Given the description of an element on the screen output the (x, y) to click on. 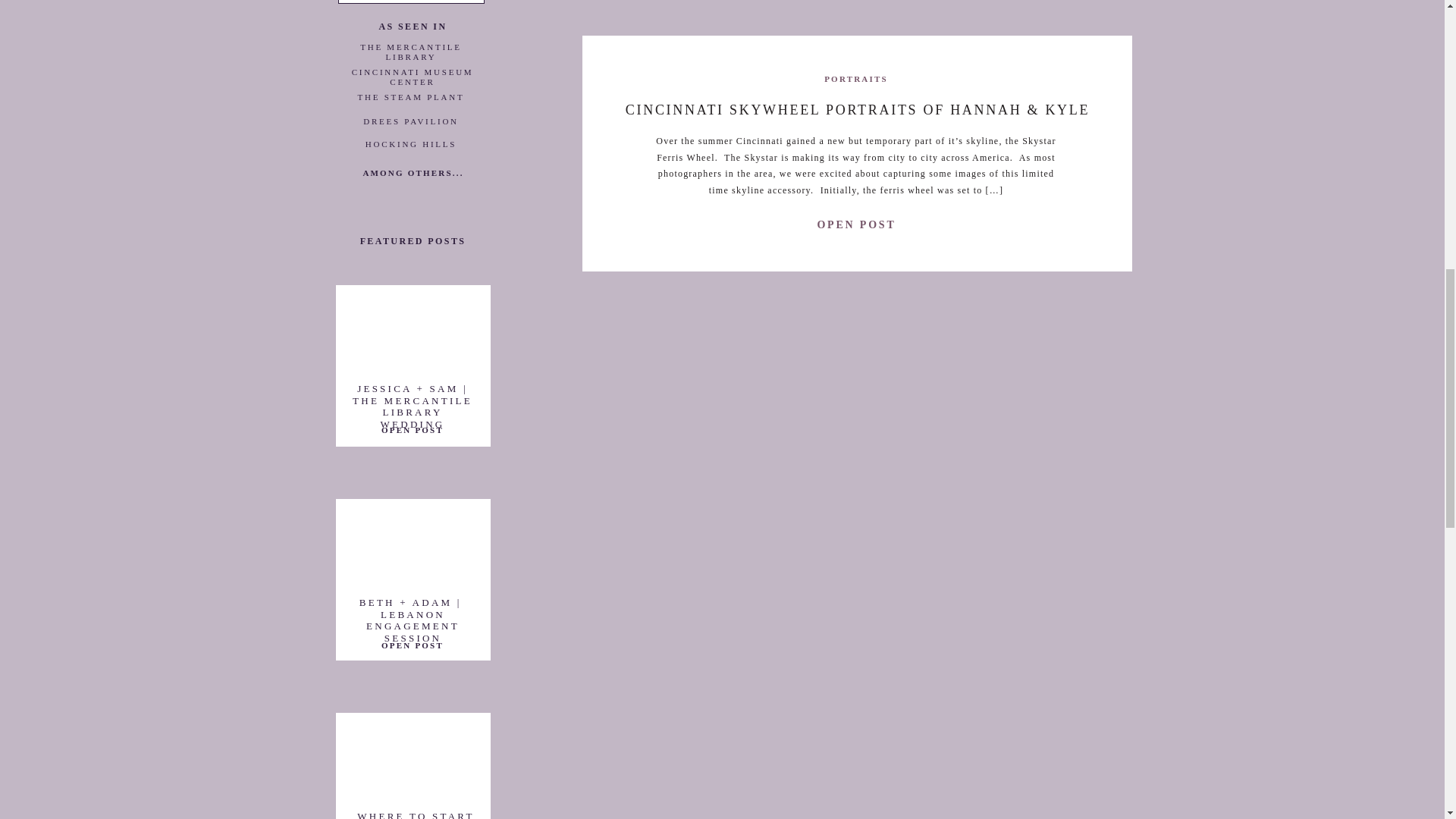
CINCINNATI MUSEUM CENTER (411, 75)
OPEN POST (412, 645)
THE STEAM PLANT (411, 100)
THE MERCANTILE LIBRARY (411, 50)
OPEN POST (412, 430)
